Given the description of an element on the screen output the (x, y) to click on. 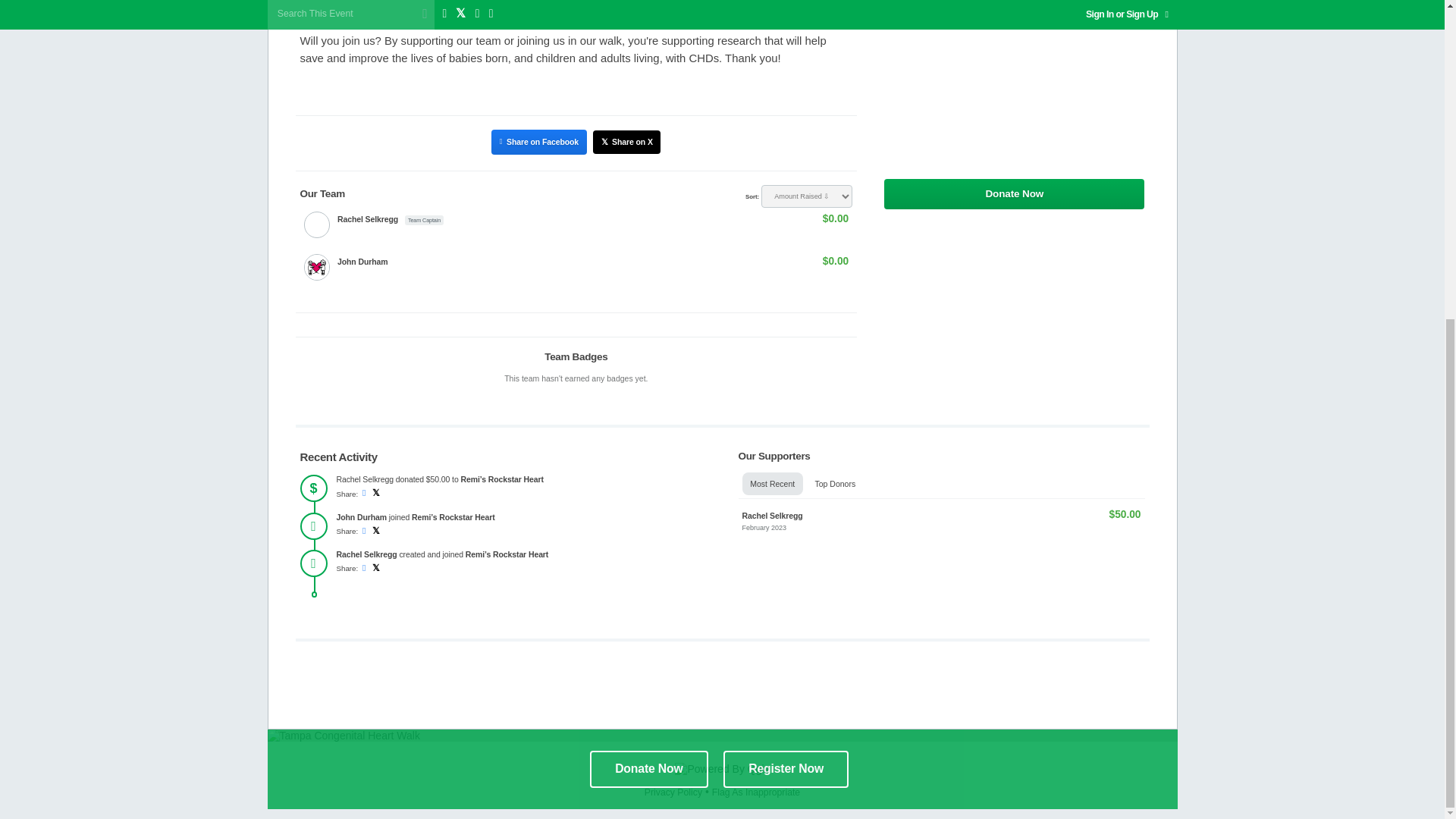
Donate Now (1013, 194)
Share on Facebook (539, 141)
Share on X (626, 142)
Join My Team (1013, 235)
